Given the description of an element on the screen output the (x, y) to click on. 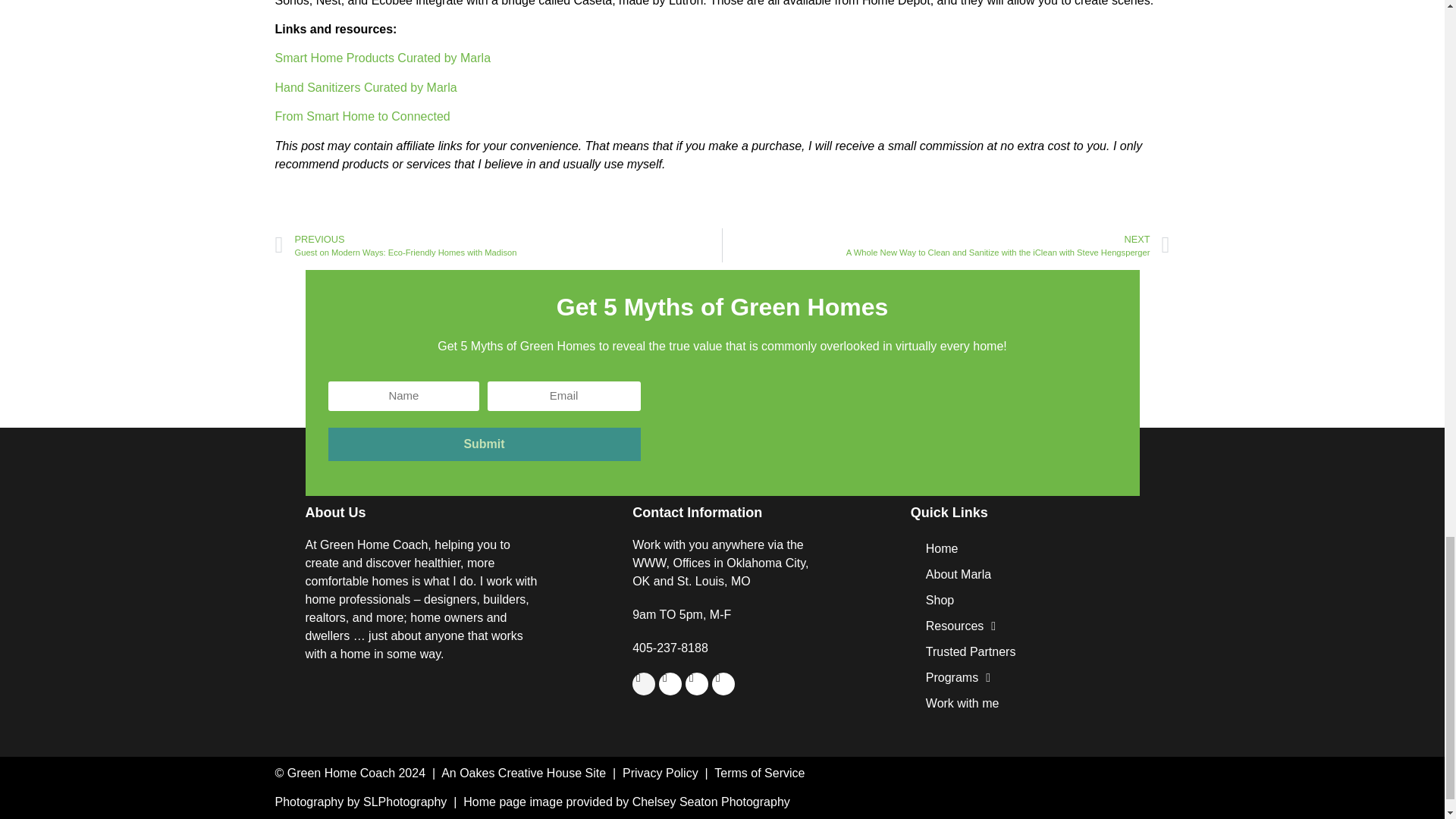
Submit (483, 444)
